Given the description of an element on the screen output the (x, y) to click on. 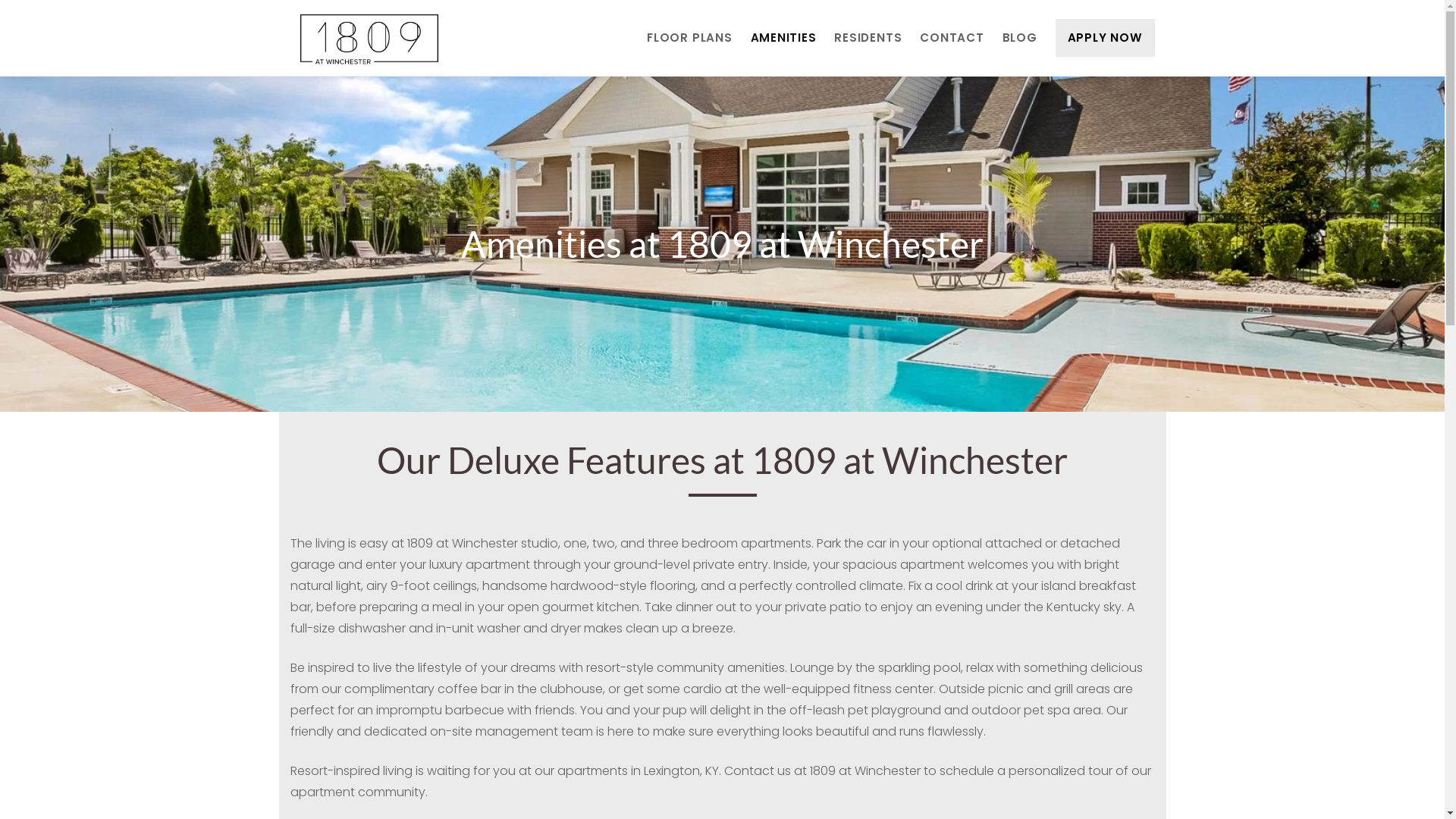
BLOG Element type: text (1019, 37)
CONTACT Element type: text (951, 37)
APPLY NOW Element type: text (1104, 37)
AMENITIES Element type: text (783, 37)
FLOOR PLANS Element type: text (688, 37)
RESIDENTS Element type: text (867, 37)
